Given the description of an element on the screen output the (x, y) to click on. 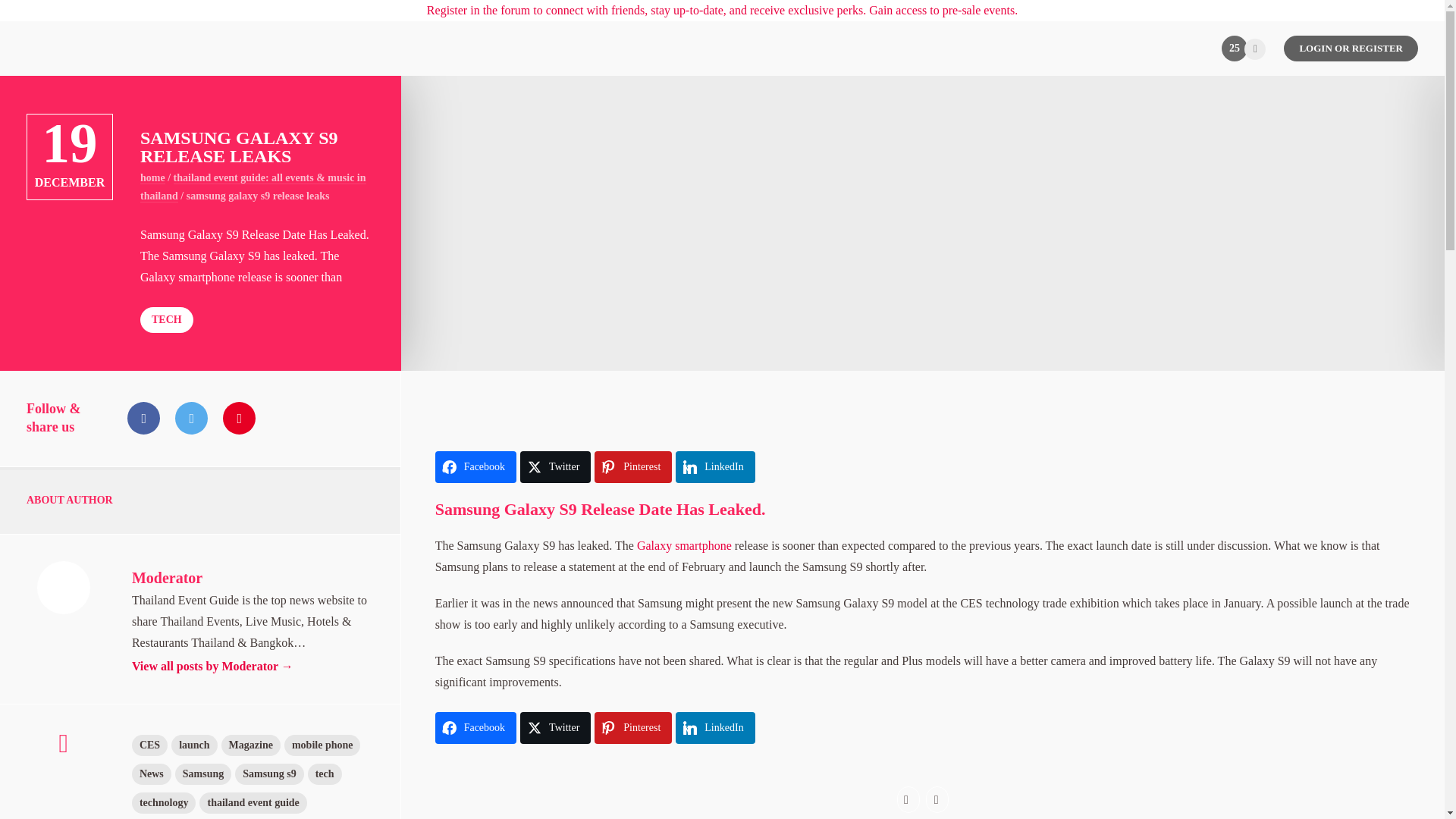
thailand event guide (252, 803)
LOGIN OR REGISTER (1351, 48)
Samsung s9 (268, 773)
Share on LinkedIn (714, 467)
TECH (166, 319)
technology (164, 803)
Share on Pinterest (632, 727)
News (151, 773)
Share on Facebook (475, 727)
